Given the description of an element on the screen output the (x, y) to click on. 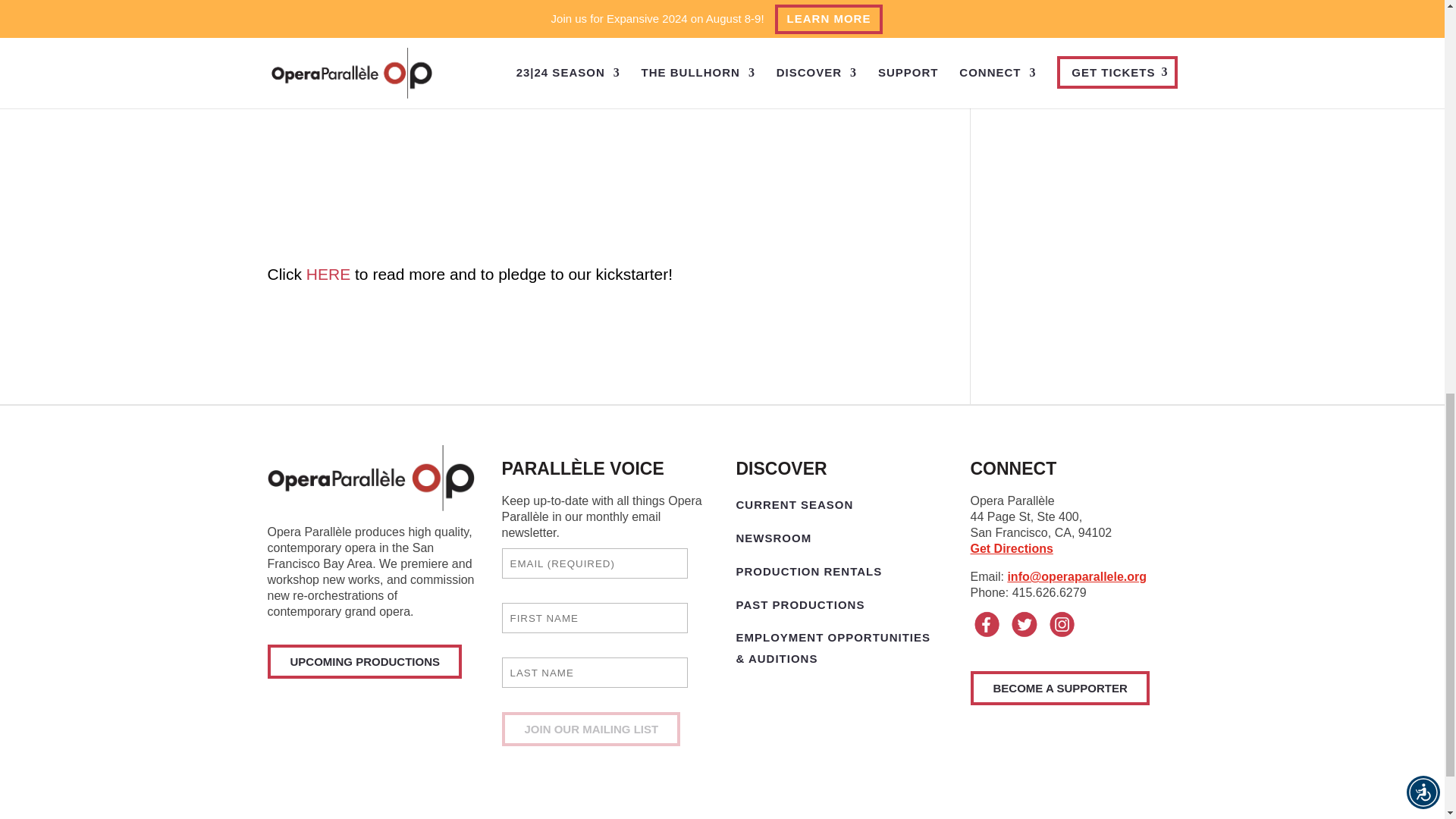
Kickstarter Heart of Darkness Art Installation (327, 273)
Join our mailing list (591, 728)
